Given the description of an element on the screen output the (x, y) to click on. 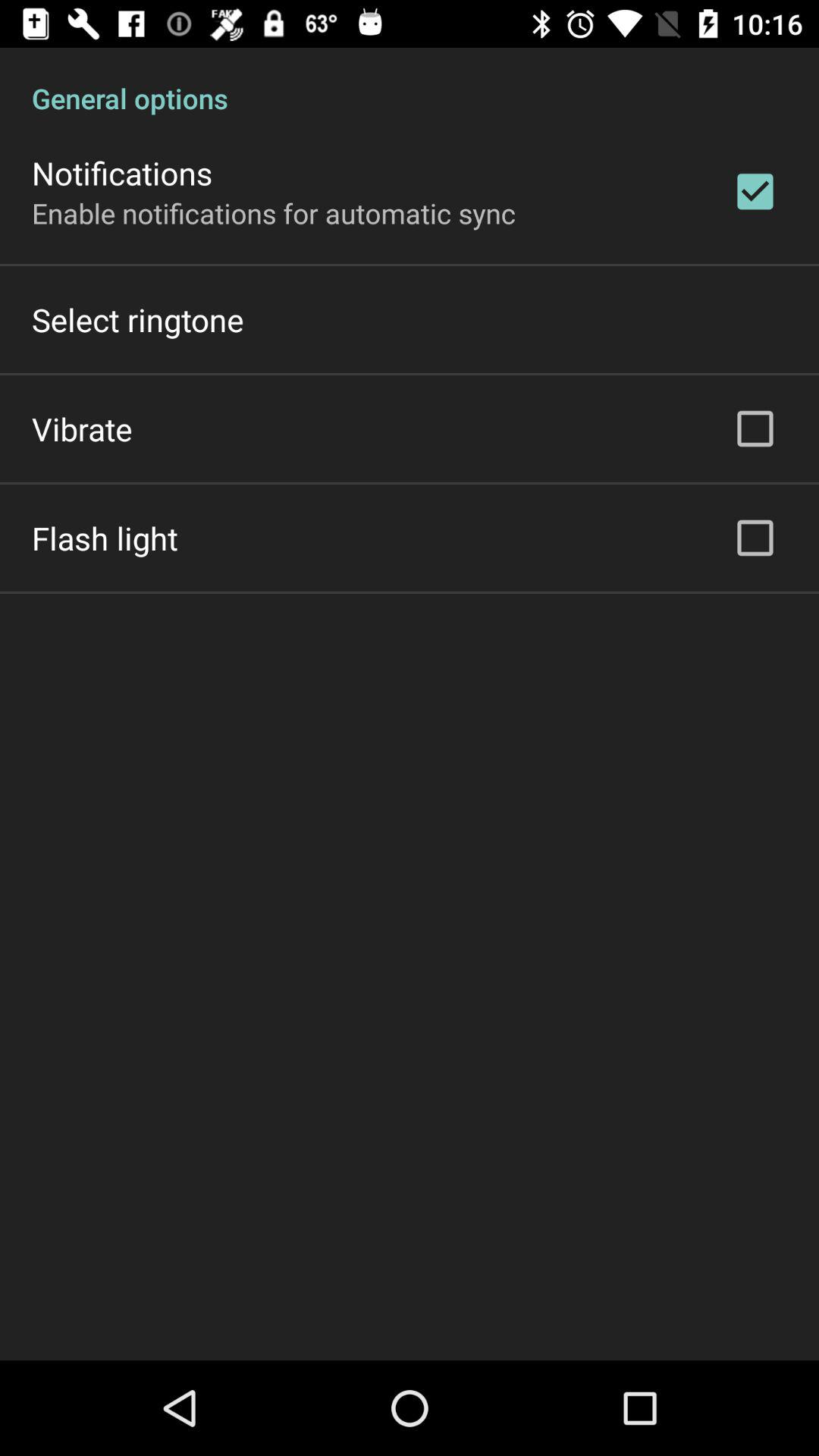
turn off icon below select ringtone (81, 428)
